Given the description of an element on the screen output the (x, y) to click on. 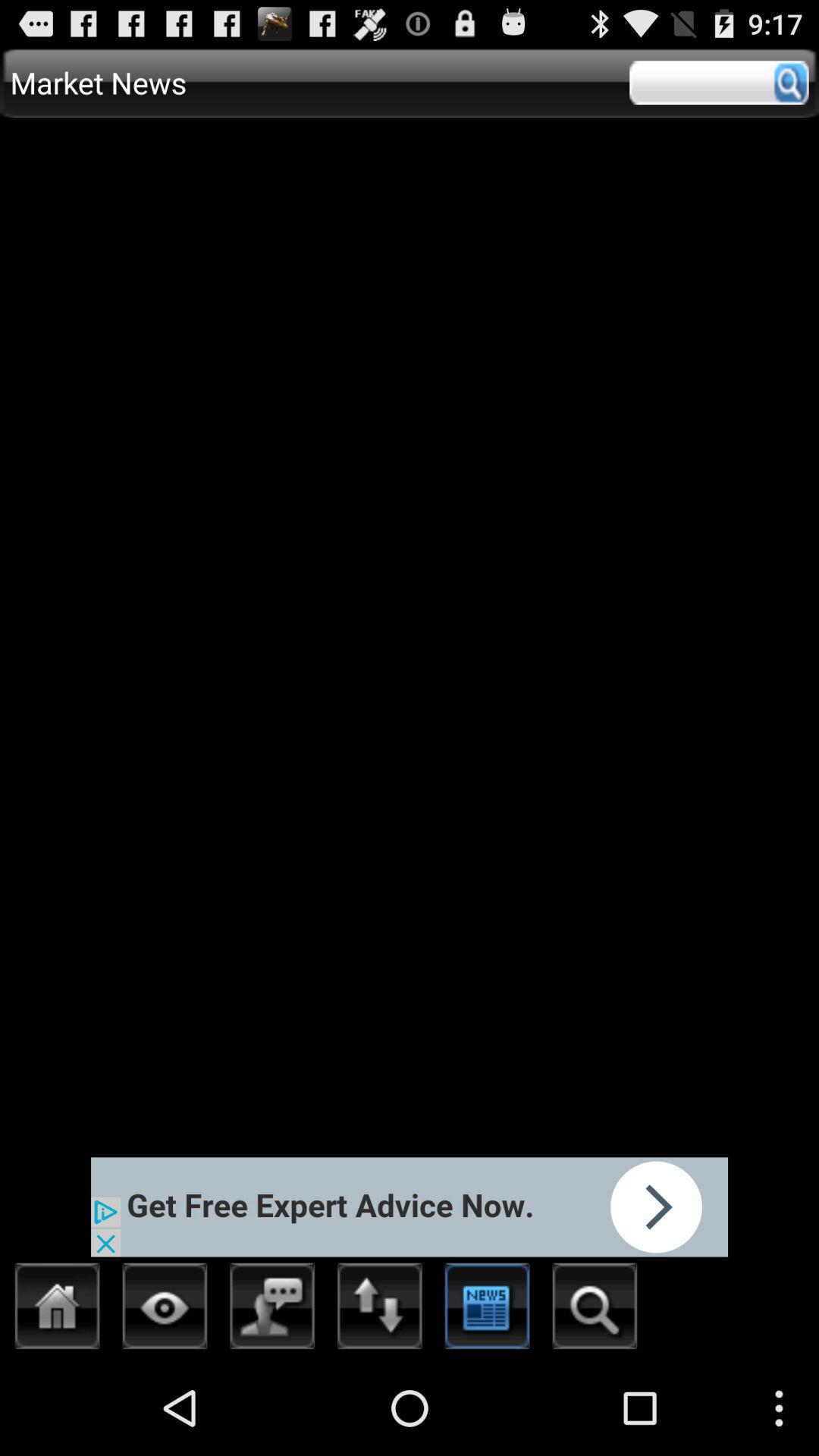
open advertisement (409, 1206)
